Given the description of an element on the screen output the (x, y) to click on. 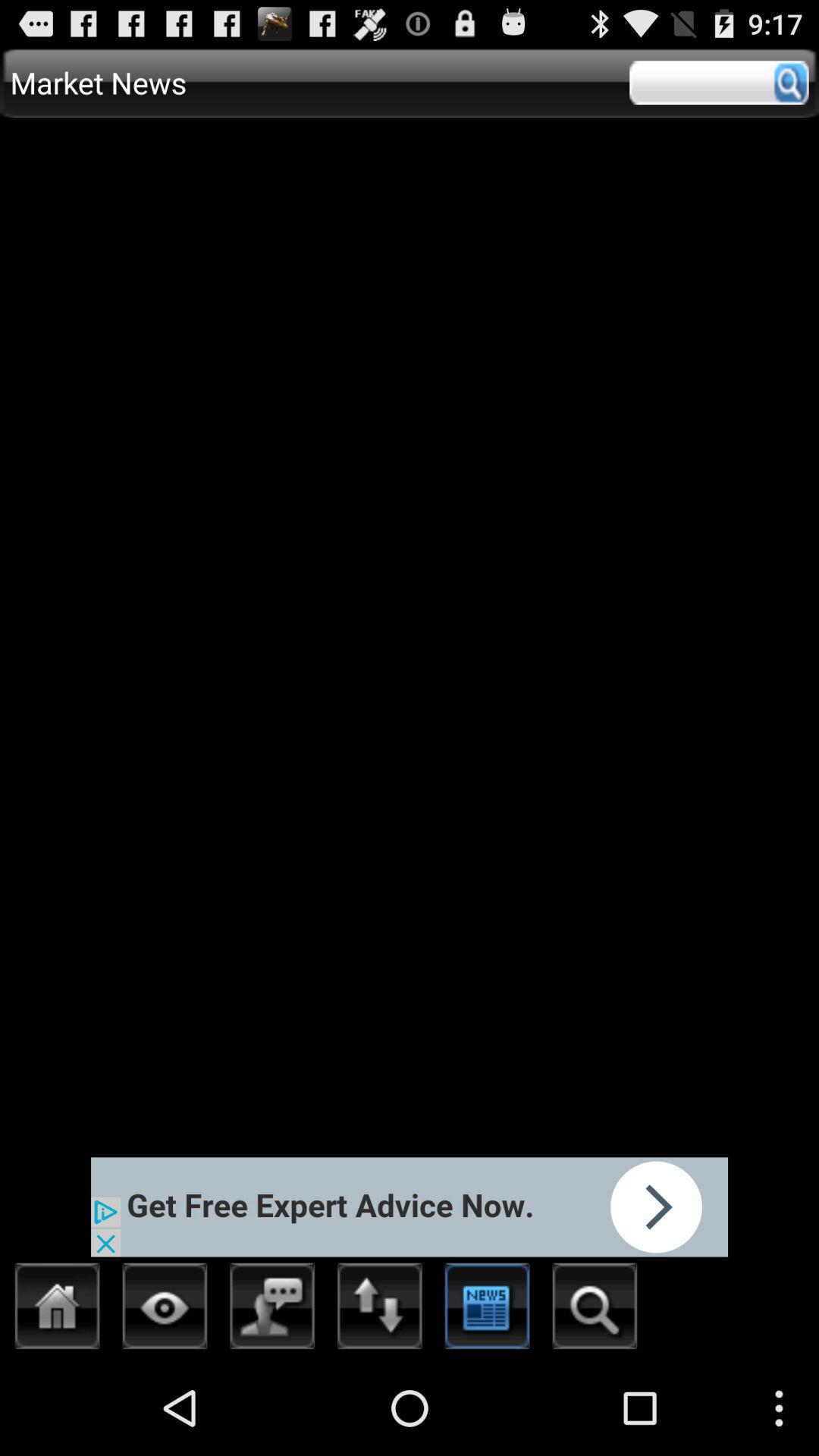
open advertisement (409, 1206)
